Given the description of an element on the screen output the (x, y) to click on. 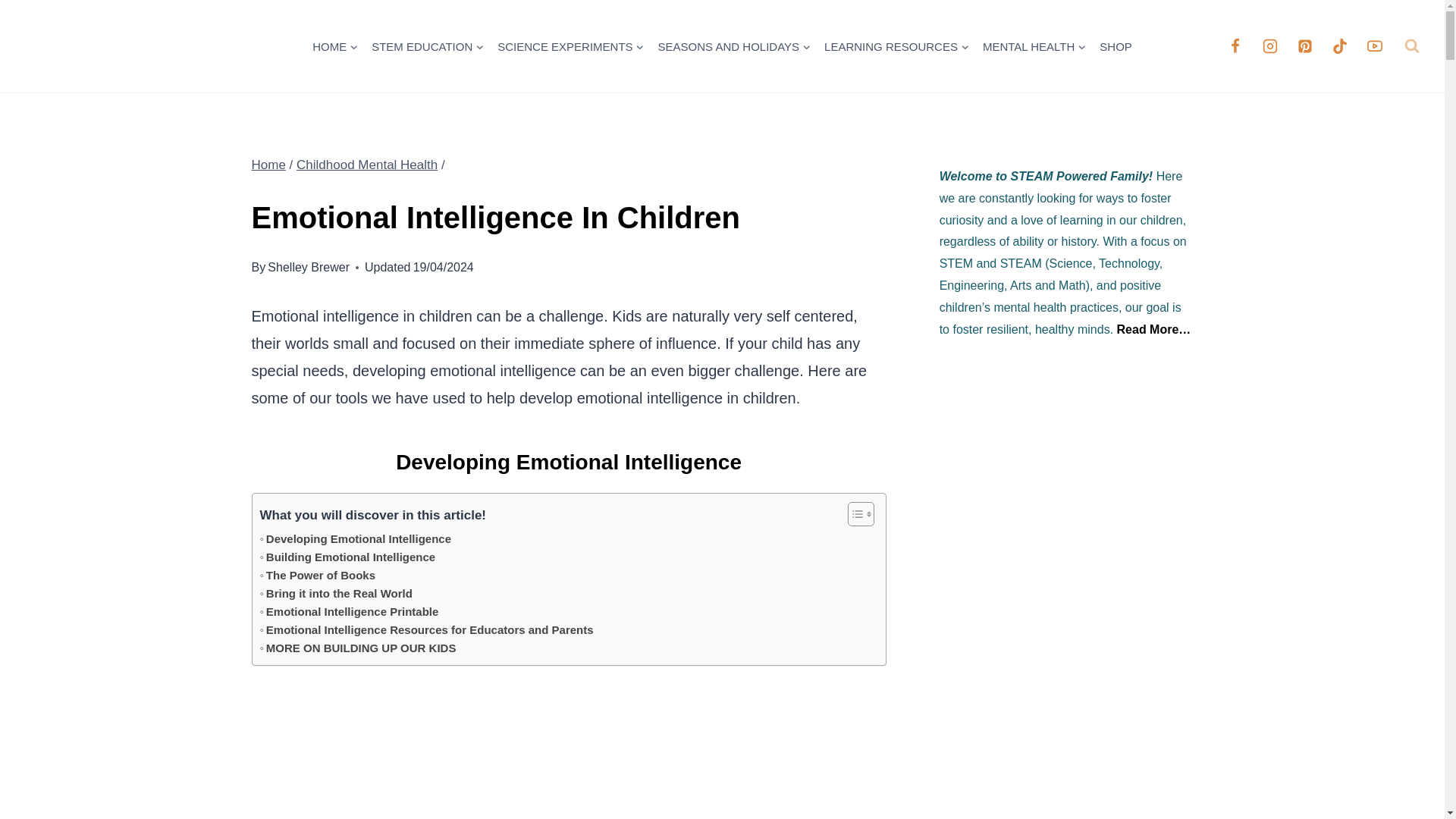
Bring it into the Real World (335, 592)
HOME (335, 45)
Emotional Intelligence Printable (348, 610)
STEM EDUCATION (427, 45)
SCIENCE EXPERIMENTS (570, 45)
MORE ON BUILDING UP OUR KIDS (357, 647)
SEASONS AND HOLIDAYS (733, 45)
The Power of Books (317, 574)
Developing Emotional Intelligence (355, 538)
Building Emotional Intelligence (347, 556)
